Given the description of an element on the screen output the (x, y) to click on. 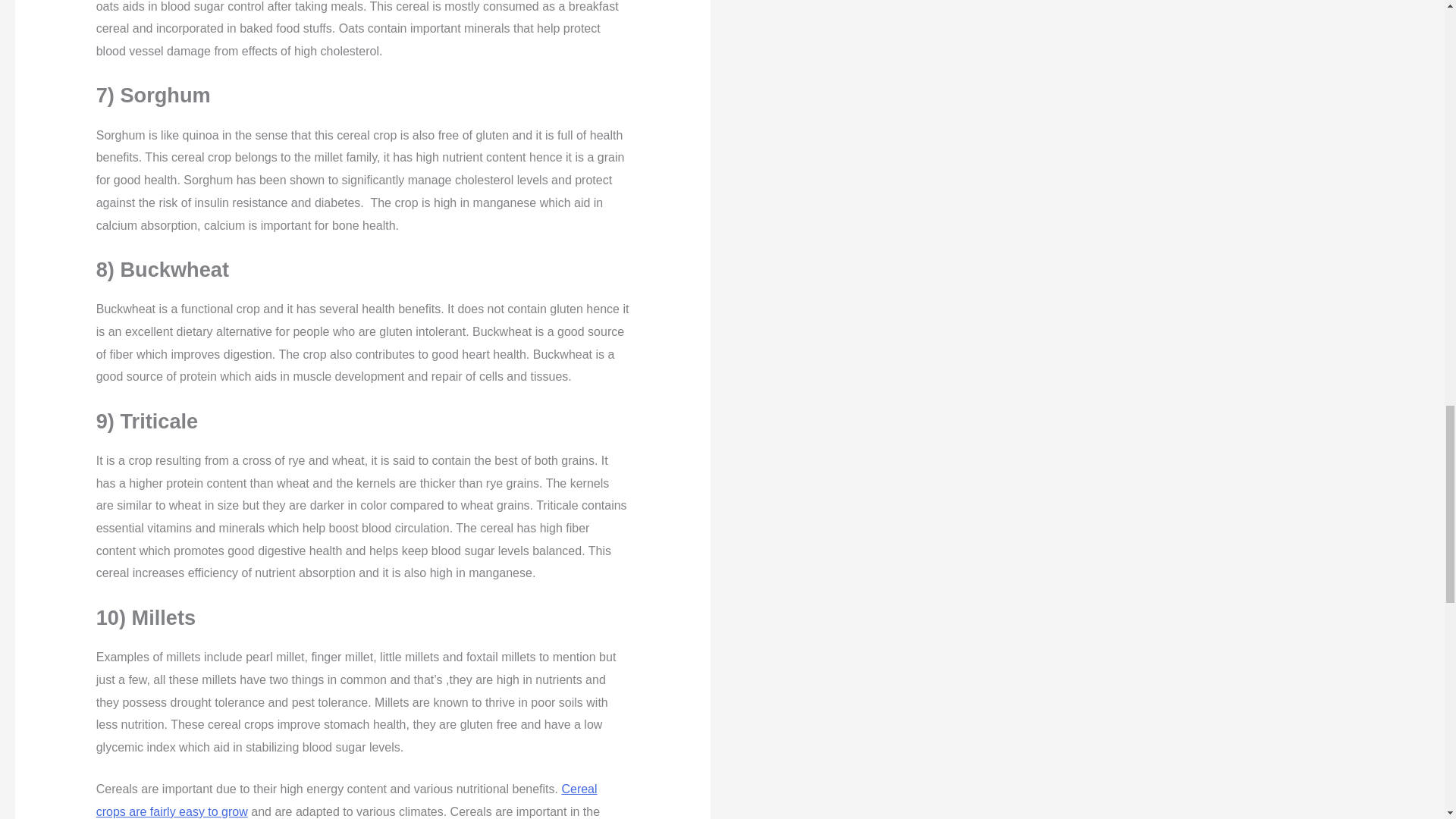
Cereal crops are fairly easy to grow (346, 800)
